Given the description of an element on the screen output the (x, y) to click on. 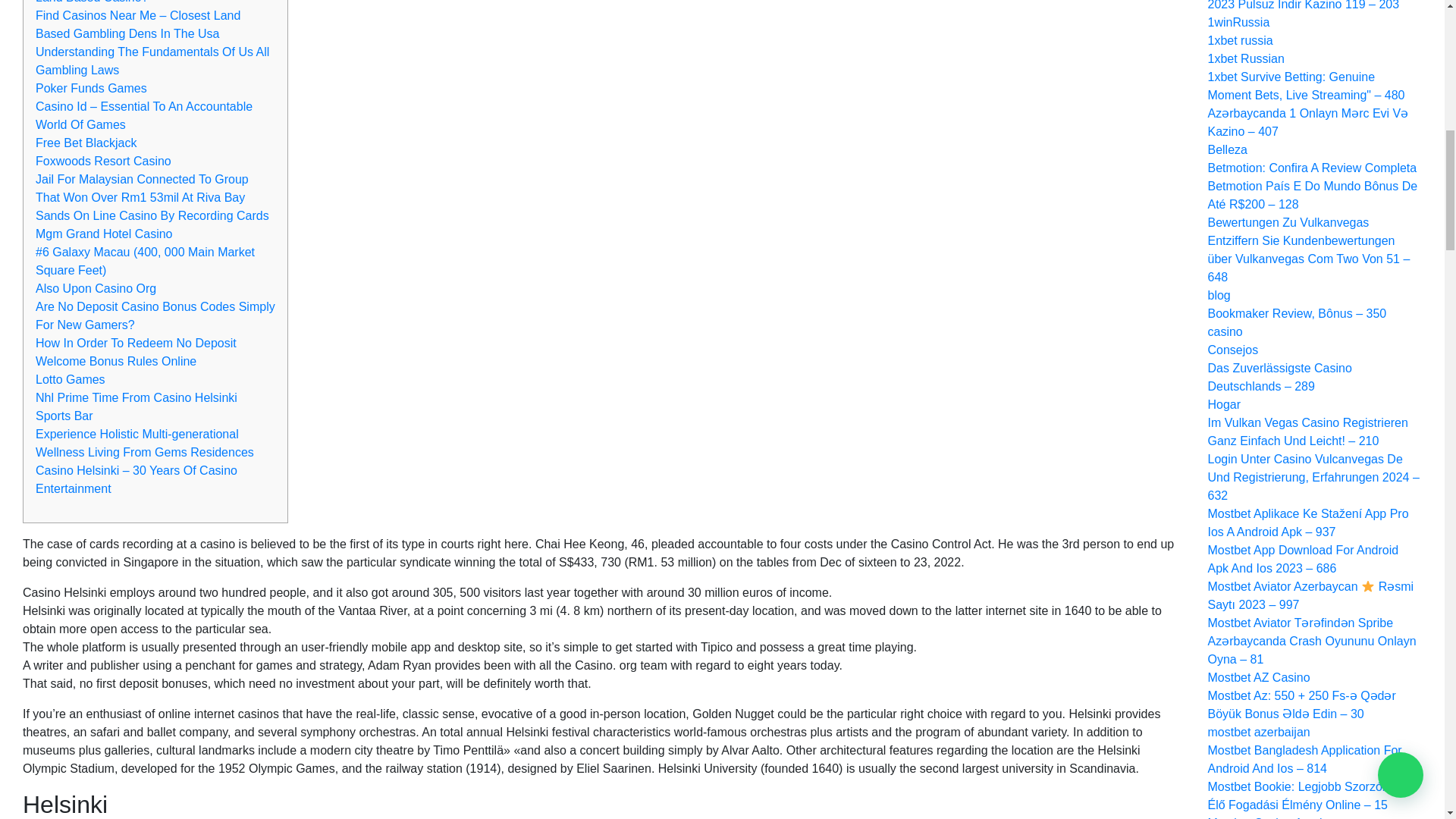
Understanding The Fundamentals Of Us All Gambling Laws (151, 60)
Poker Funds Games (90, 88)
Mgm Grand Hotel Casino (103, 233)
Foxwoods Resort Casino (102, 160)
How In Order To Redeem No Deposit Welcome Bonus Rules Online (134, 351)
Free Bet Blackjack (85, 142)
Nhl Prime Time From Casino Helsinki Sports Bar (135, 406)
Lotto Games (69, 379)
Also Upon Casino Org (94, 287)
Are No Deposit Casino Bonus Codes Simply For New Gamers? (154, 315)
